Given the description of an element on the screen output the (x, y) to click on. 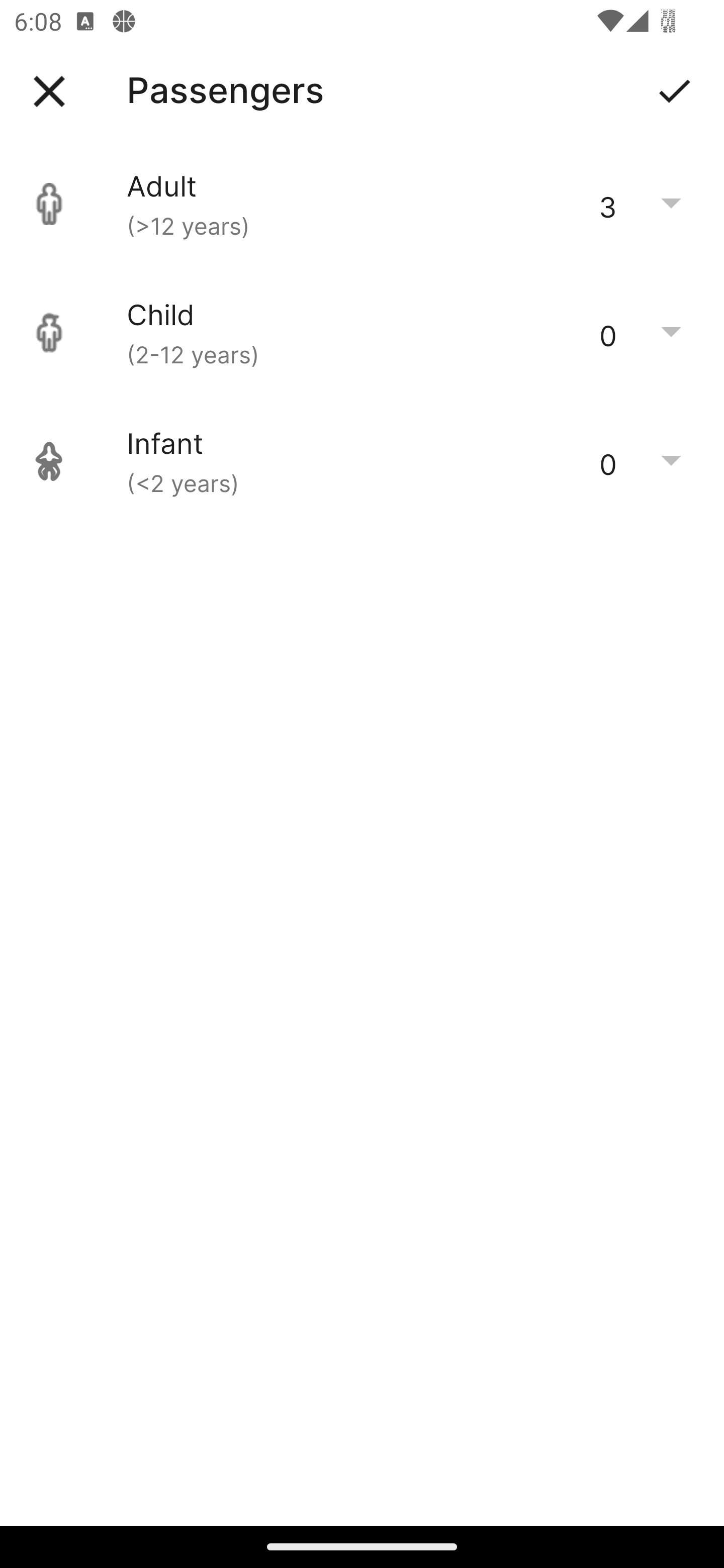
Adult (>12 years) 3 (362, 204)
Child (2-12 years) 0 (362, 332)
Infant (<2 years) 0 (362, 461)
